Given the description of an element on the screen output the (x, y) to click on. 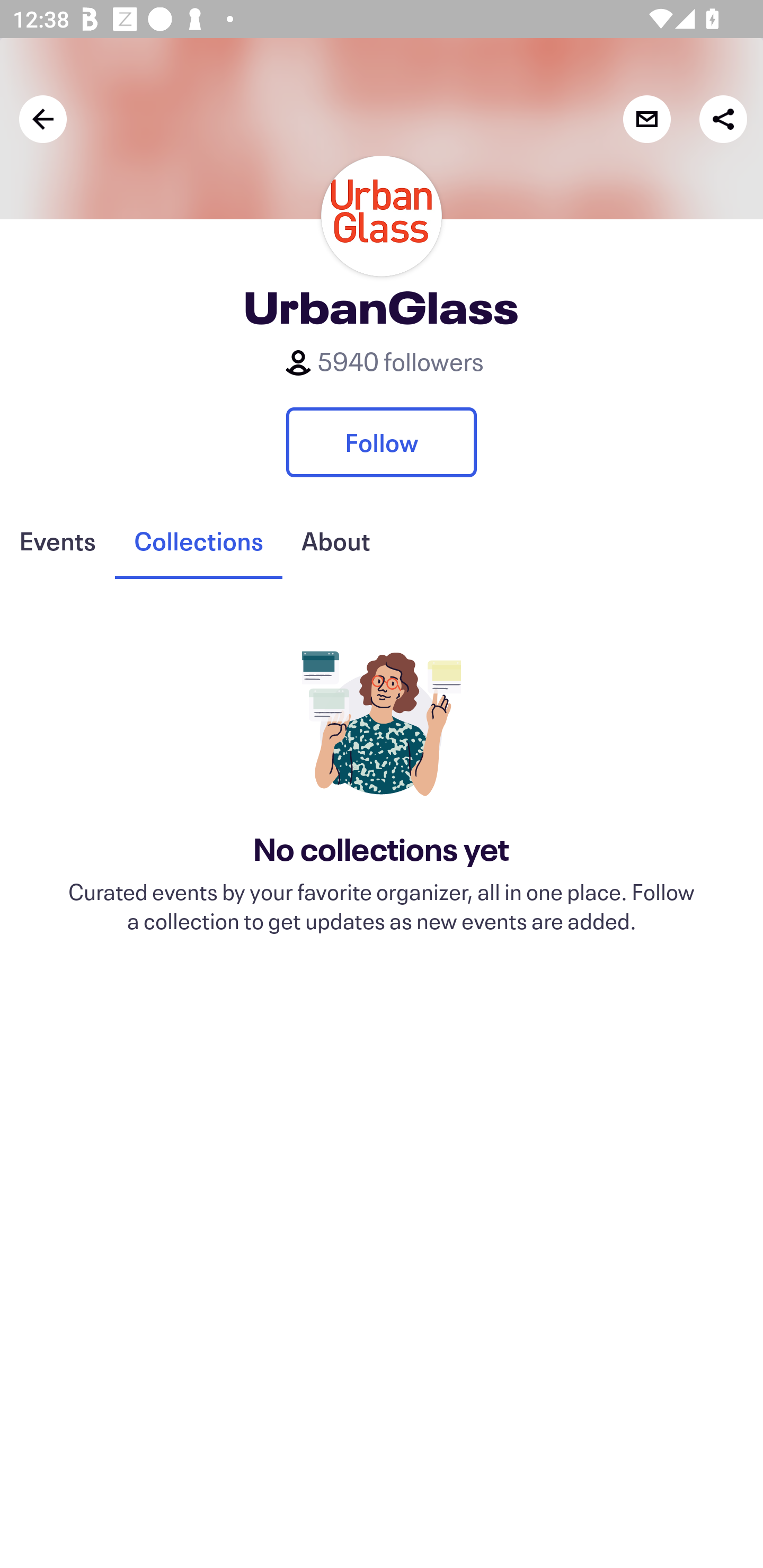
Back navigation arrow (43, 118)
Contact organizer (646, 118)
Share with friends (722, 118)
Follow (381, 441)
Events (57, 540)
About (335, 540)
